Given the description of an element on the screen output the (x, y) to click on. 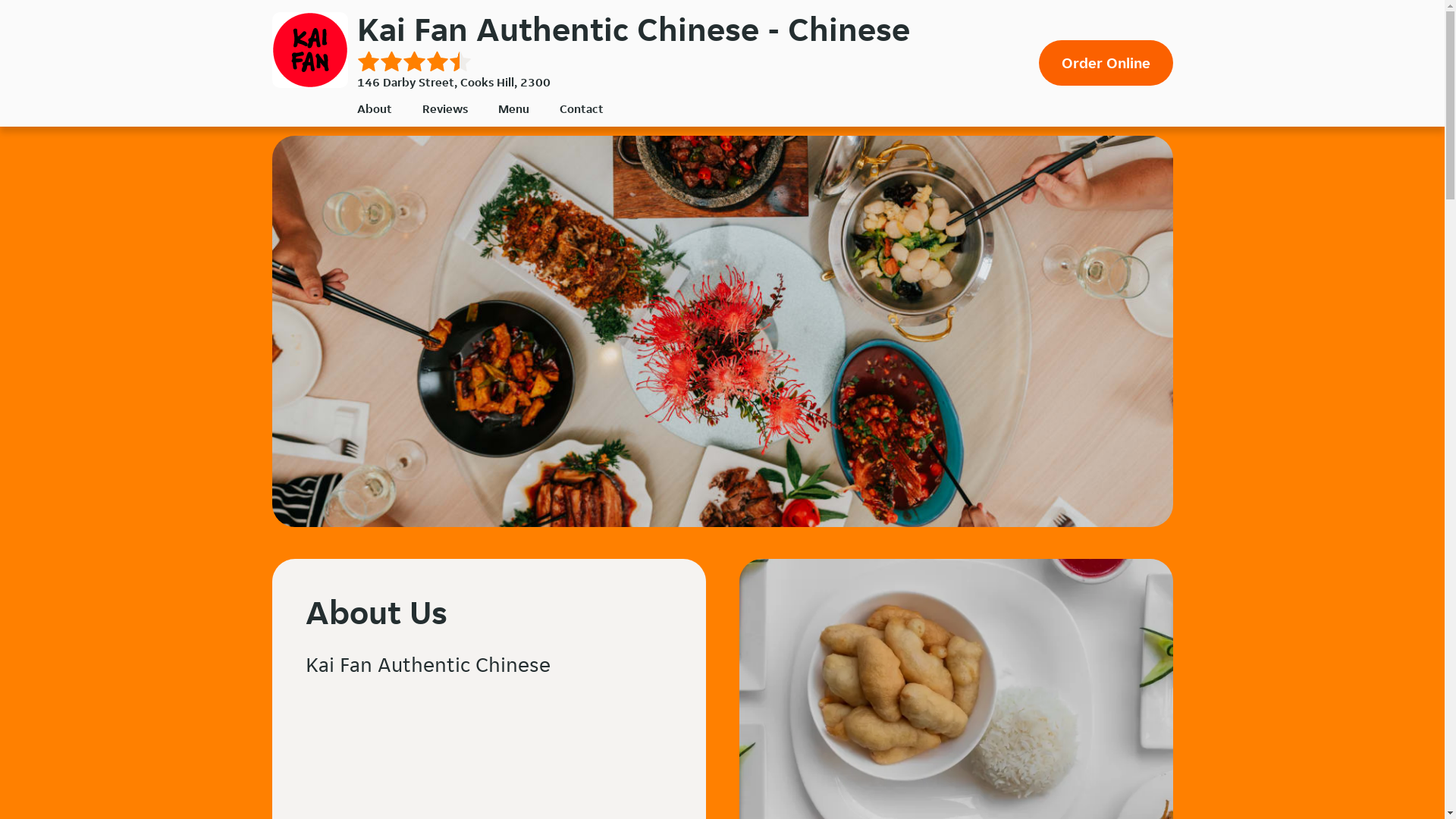
Reviews Element type: text (444, 108)
Menu Element type: text (512, 108)
About Element type: text (373, 108)
Kai Fan Authentic Chinese Element type: hover (309, 49)
Contact Element type: text (581, 108)
Order Online Element type: text (1105, 62)
